Given the description of an element on the screen output the (x, y) to click on. 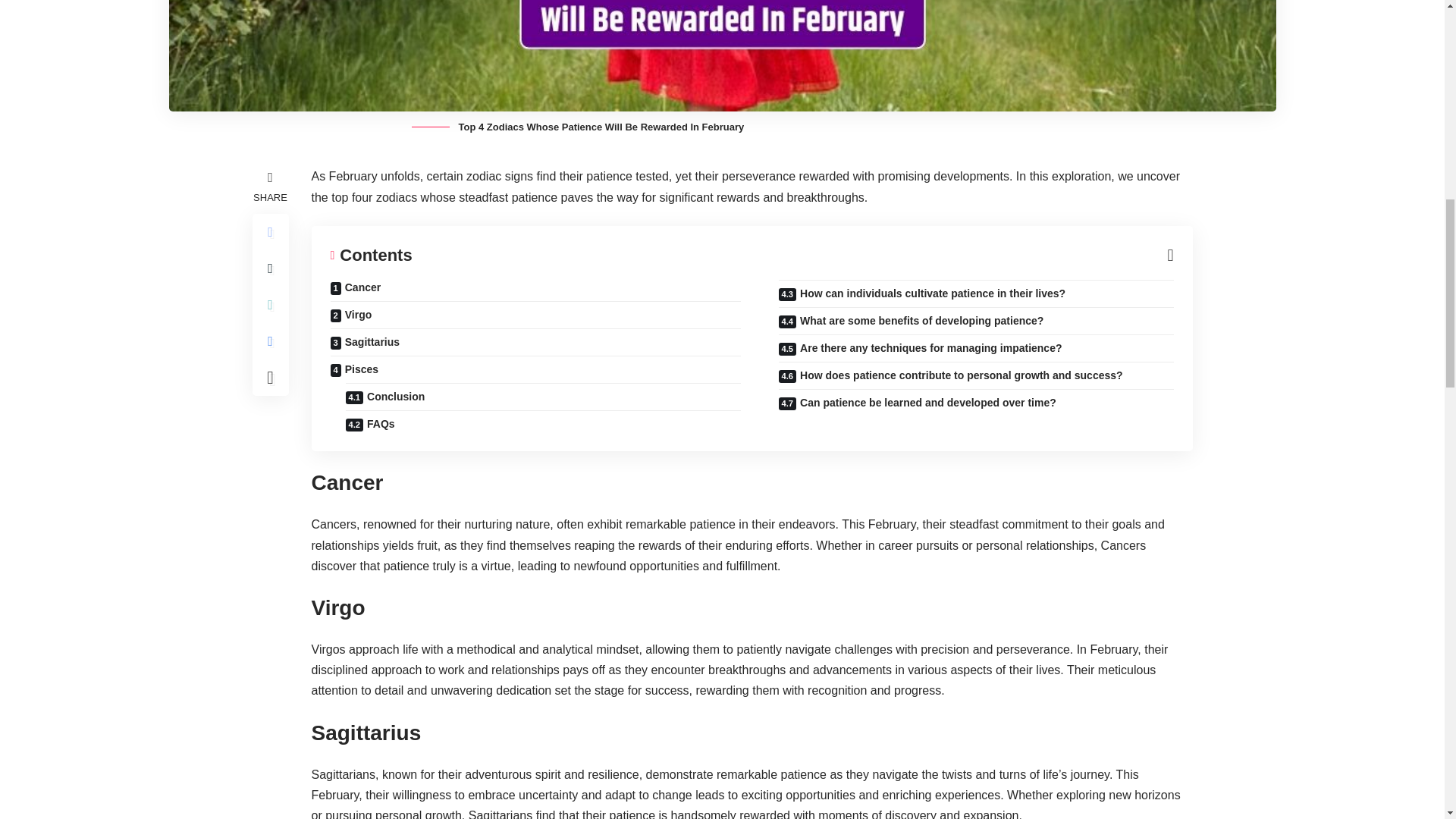
Pisces (535, 369)
Virgo (535, 314)
Conclusion (543, 396)
Sagittarius (535, 341)
Cancer (535, 290)
